Given the description of an element on the screen output the (x, y) to click on. 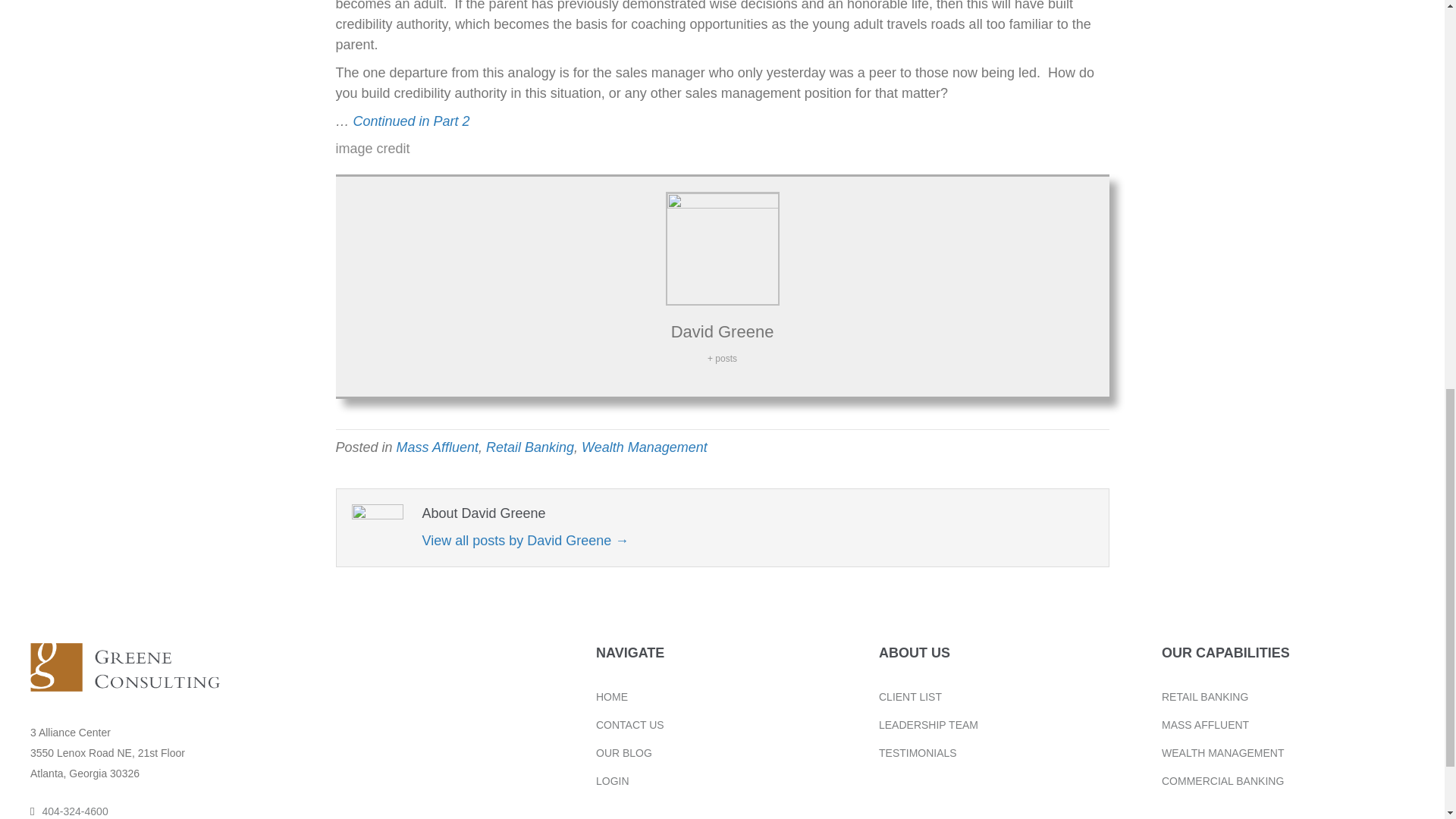
TESTIMONIALS (917, 752)
footer-logo (124, 667)
LOGIN (611, 780)
404-324-4600 (74, 811)
image credit (371, 148)
MASS AFFLUENT (1205, 724)
Retail Banking (529, 447)
OUR BLOG (623, 752)
Continued in Part 2 (411, 120)
LEADERSHIP TEAM (928, 724)
